Given the description of an element on the screen output the (x, y) to click on. 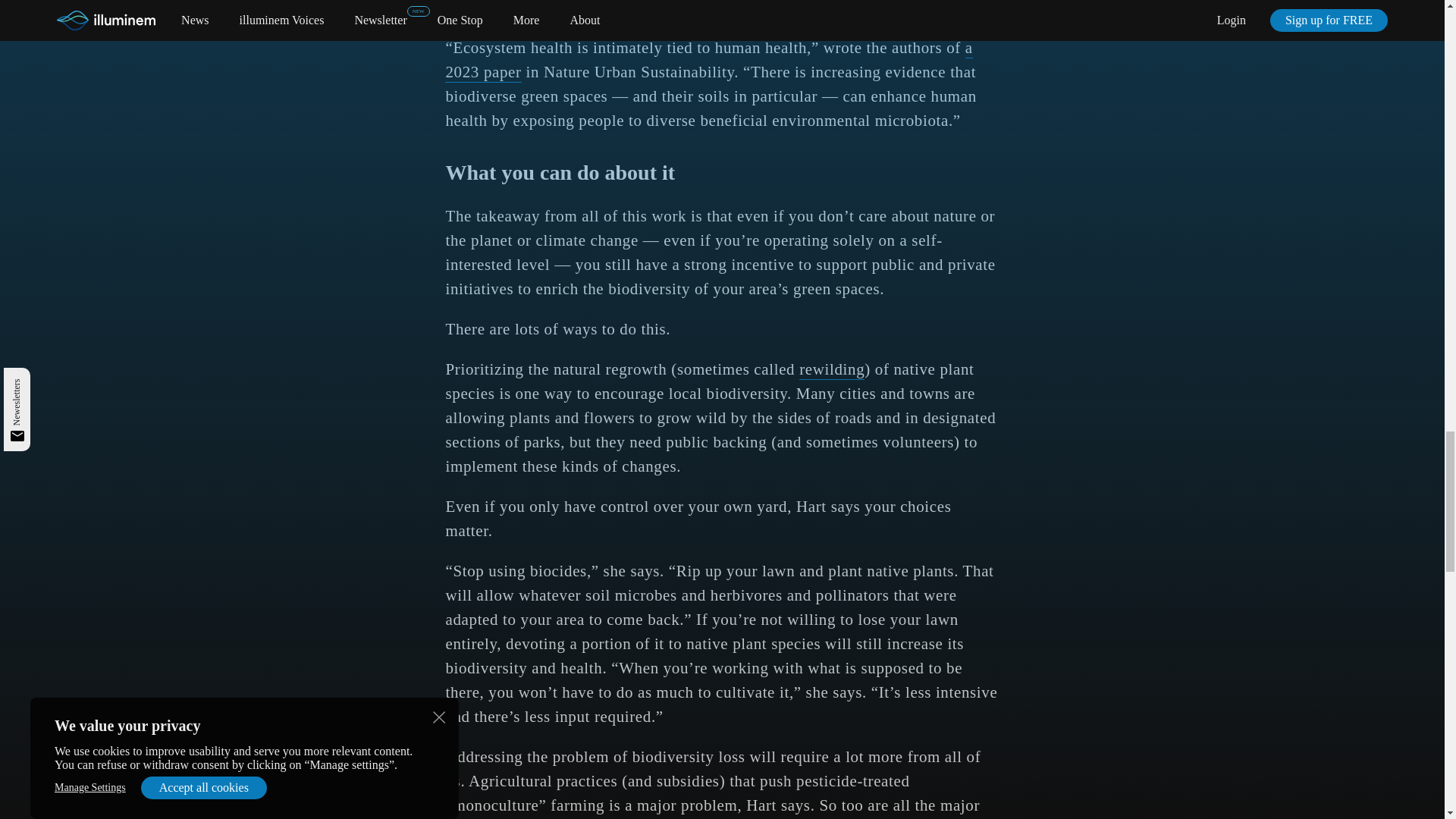
a 2023 paper (708, 60)
rewilding (831, 370)
